Given the description of an element on the screen output the (x, y) to click on. 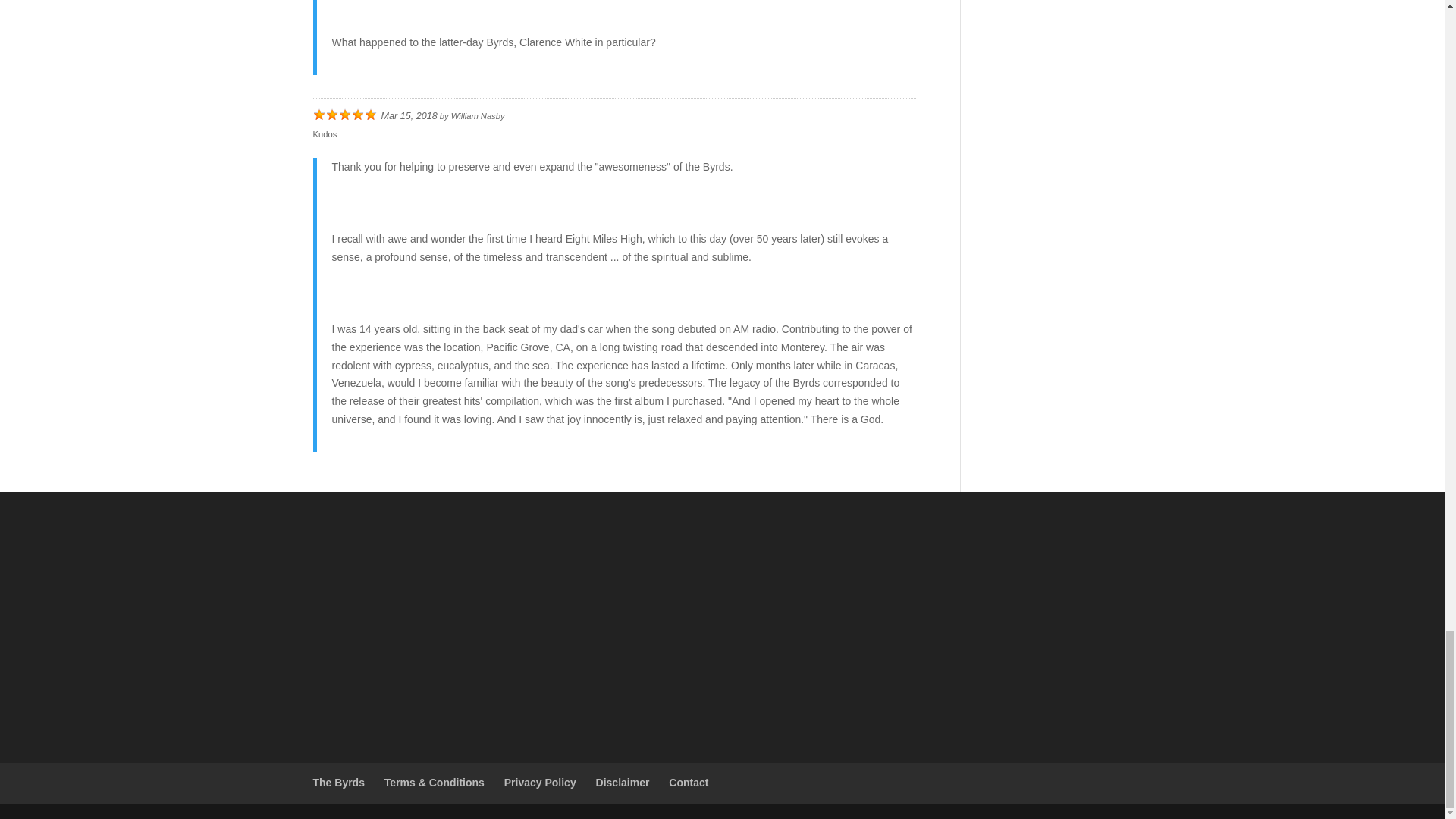
Disclaimer (622, 782)
The Byrds (338, 782)
Privacy Policy (539, 782)
Contact (687, 782)
